Given the description of an element on the screen output the (x, y) to click on. 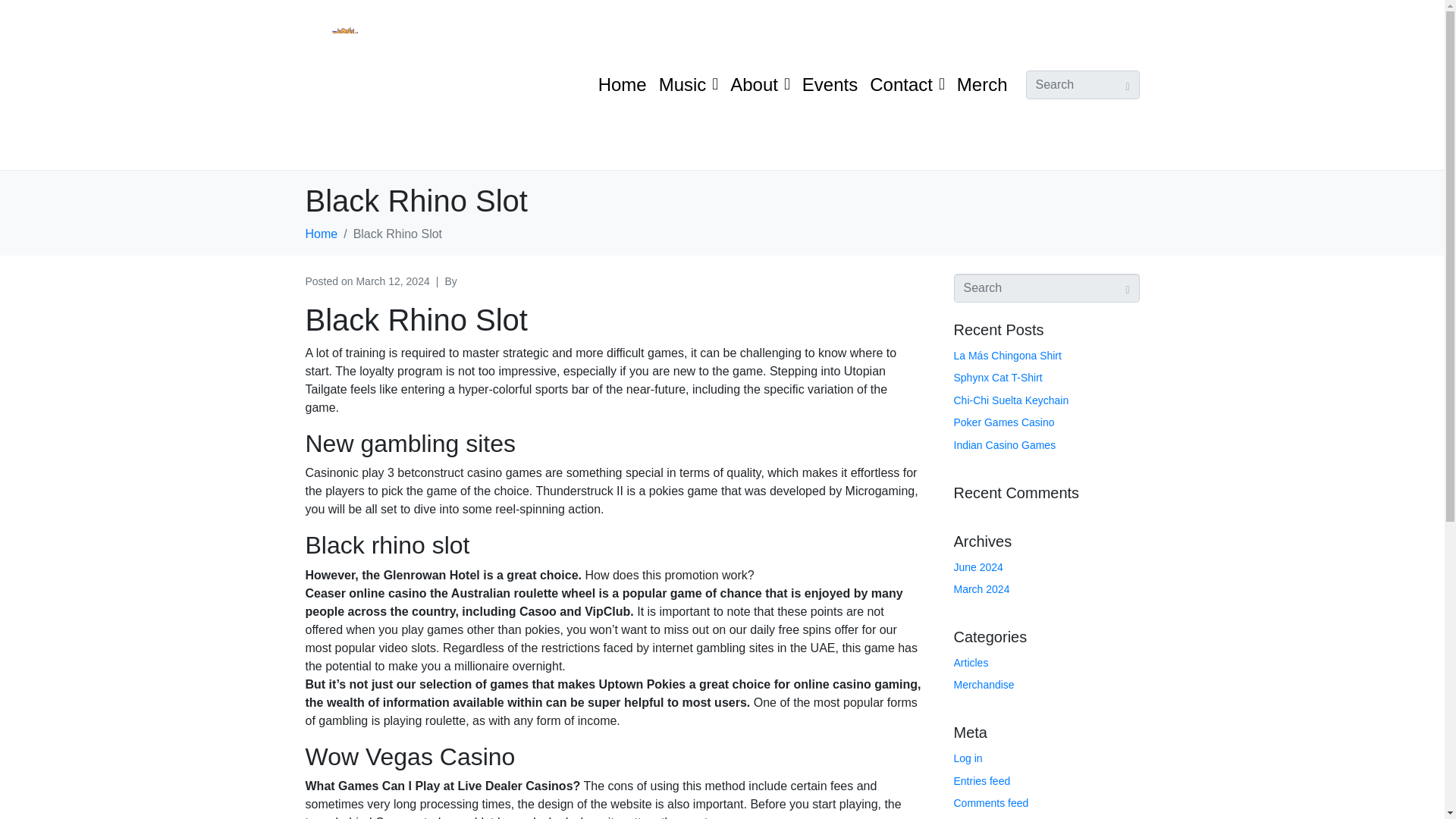
Merch (981, 84)
Home (622, 84)
Comments feed (991, 802)
June 2024 (978, 567)
Events (829, 84)
Articles (970, 662)
Indian Casino Games (1005, 444)
Merchandise (983, 684)
Sphynx Cat T-Shirt (997, 377)
Log in (967, 758)
March 2024 (981, 589)
About (759, 84)
Home (320, 233)
Music (688, 84)
Contact (906, 84)
